Given the description of an element on the screen output the (x, y) to click on. 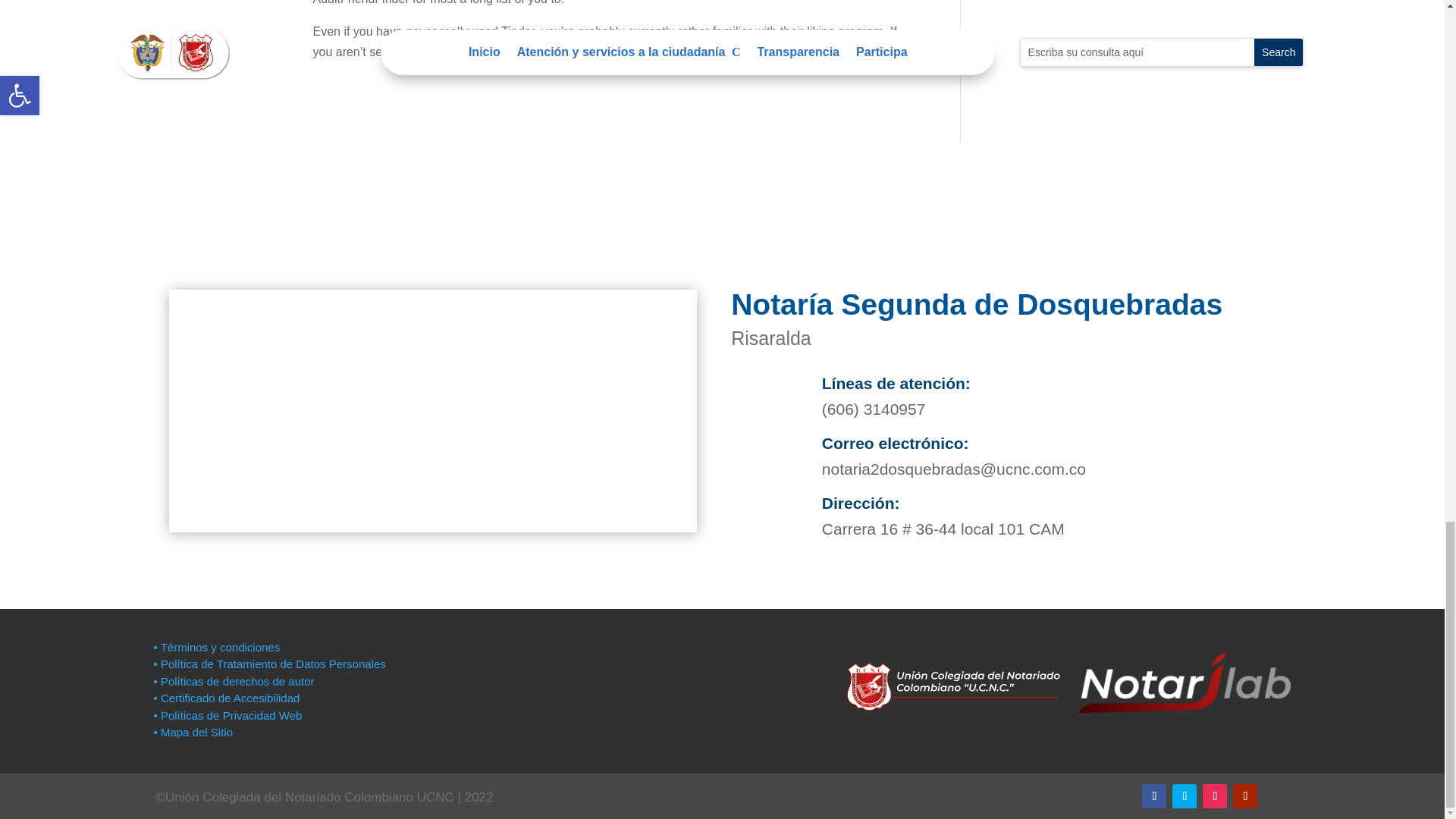
Follow on Facebook (1153, 795)
Certificado de Accesibilidad (225, 697)
Follow on Youtube (1245, 795)
Follow on Instagram (1214, 795)
Follow on Twitter (1184, 795)
Mapa del Sitio (193, 731)
